Given the description of an element on the screen output the (x, y) to click on. 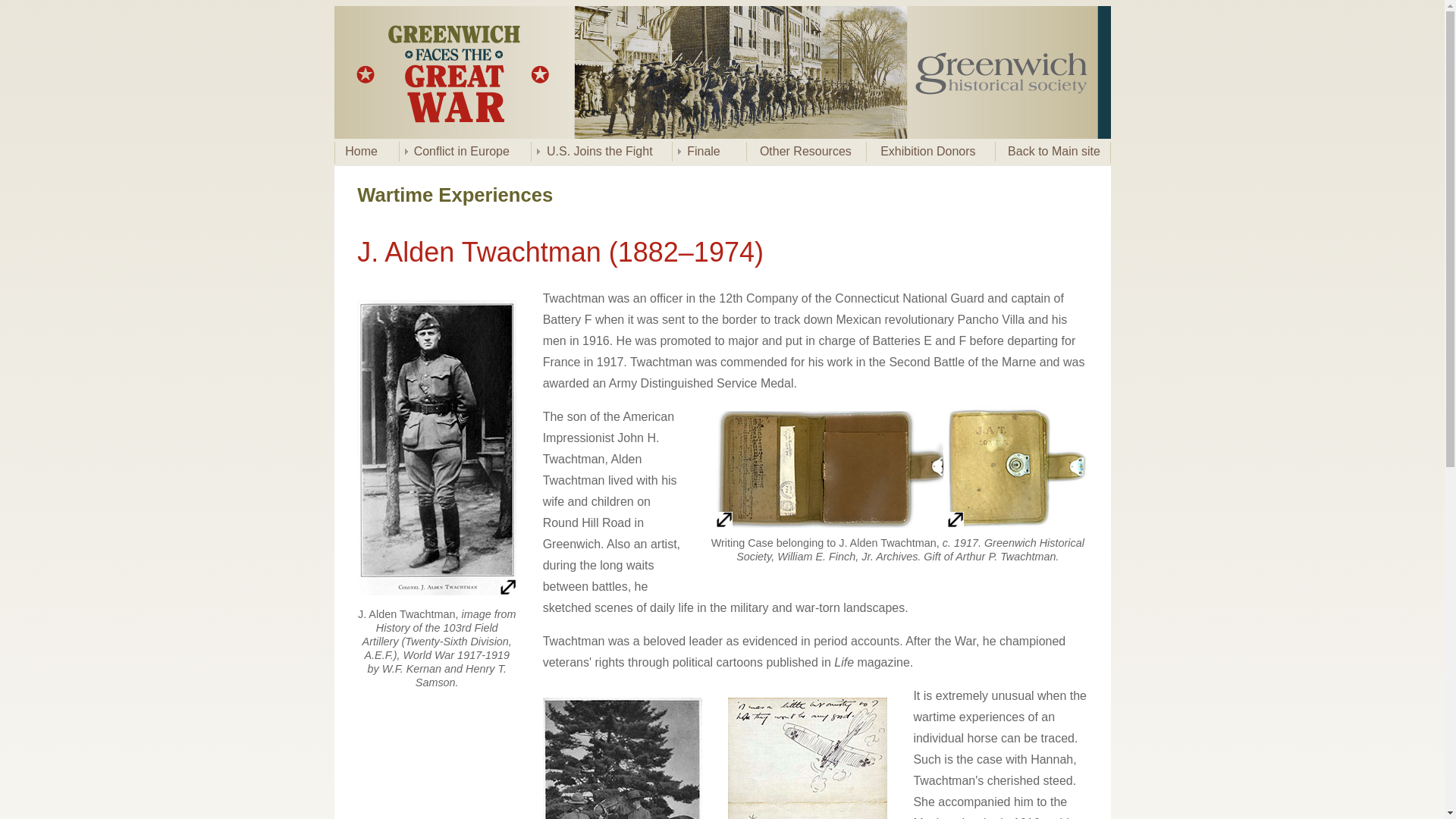
Conflict in Europe (464, 151)
U.S. Joins the Fight (601, 151)
Exhibition Donors (930, 151)
  Finale (708, 151)
back to home page (721, 133)
Back to Main site (1051, 151)
Other Resources (805, 151)
 Home (366, 151)
